Given the description of an element on the screen output the (x, y) to click on. 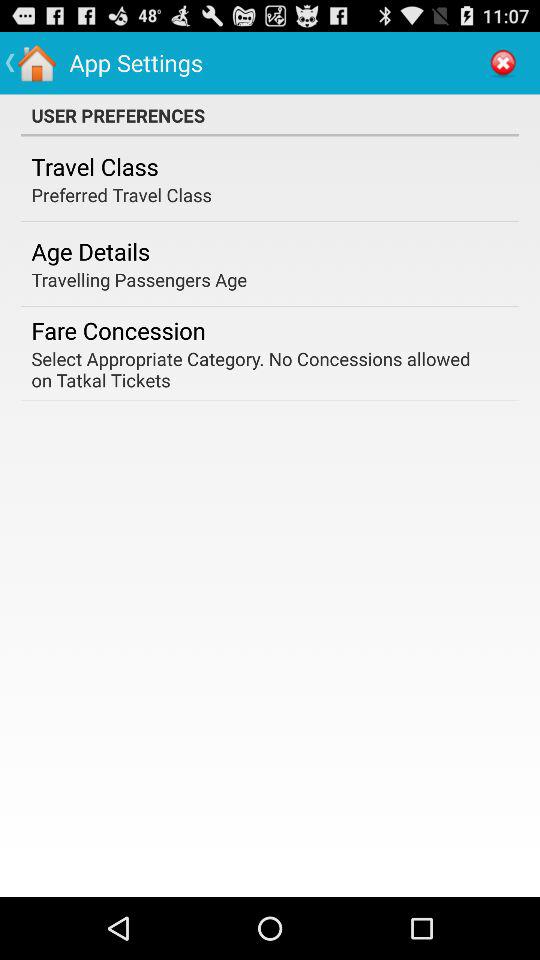
open the travelling passengers age app (139, 279)
